Given the description of an element on the screen output the (x, y) to click on. 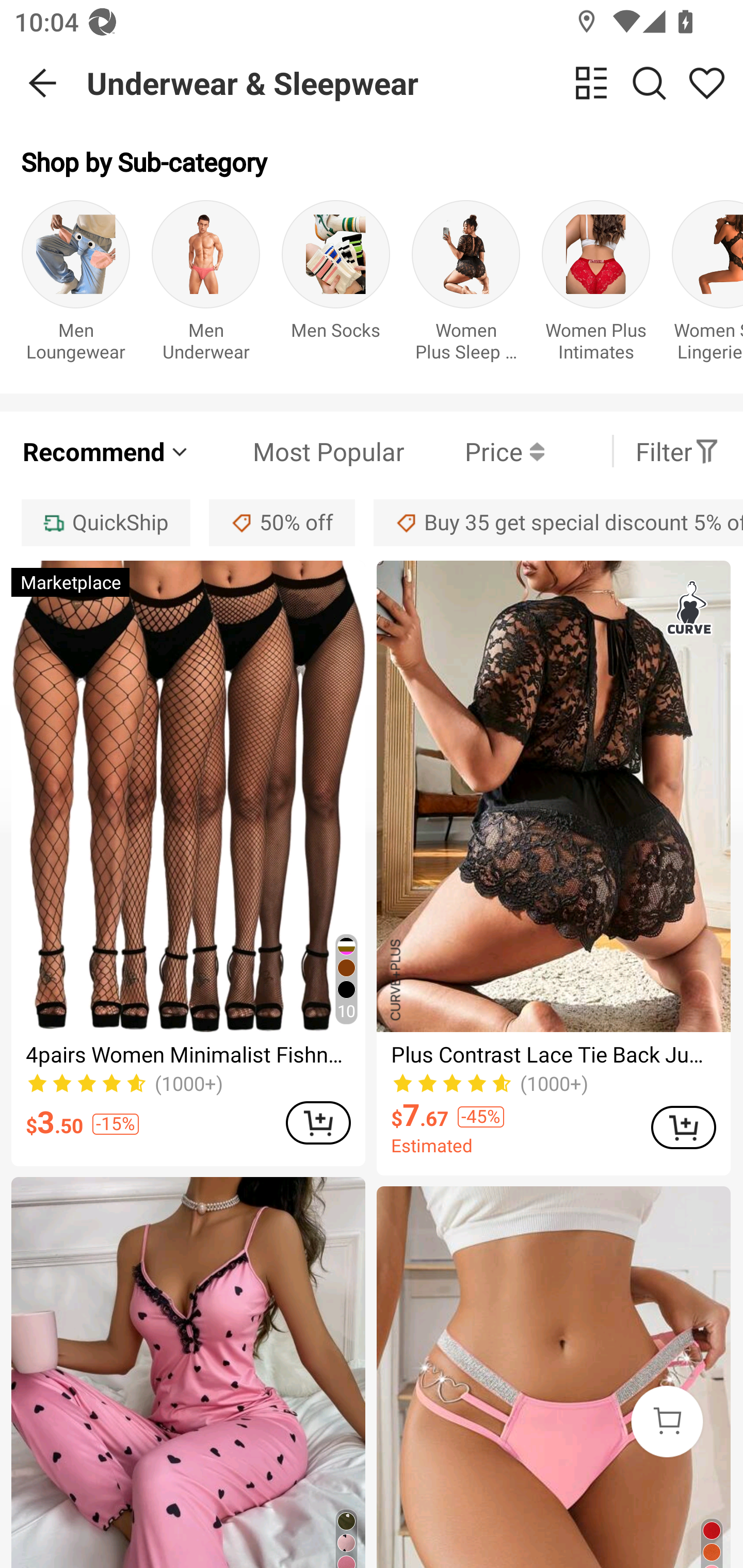
Underwear & Sleepwear change view Search Share (414, 82)
change view (591, 82)
Search (648, 82)
Share (706, 82)
Men Loungewear (75, 285)
Men Underwear (205, 285)
Men Socks (335, 285)
Women Plus Sleep & Lounge (465, 285)
Women Plus Intimates (595, 285)
Recommend (106, 450)
Most Popular (297, 450)
Price (474, 450)
Filter (677, 450)
QuickShip (105, 521)
50% off (281, 521)
Buy 35 get special discount 5% off (558, 521)
ADD TO CART (318, 1122)
ADD TO CART (683, 1127)
Heart Print Contrast Lace Bow Front Cami PJ Set (188, 1372)
Glitter Tape Cut Out Heart Ring Linked Panty (553, 1377)
